Given the description of an element on the screen output the (x, y) to click on. 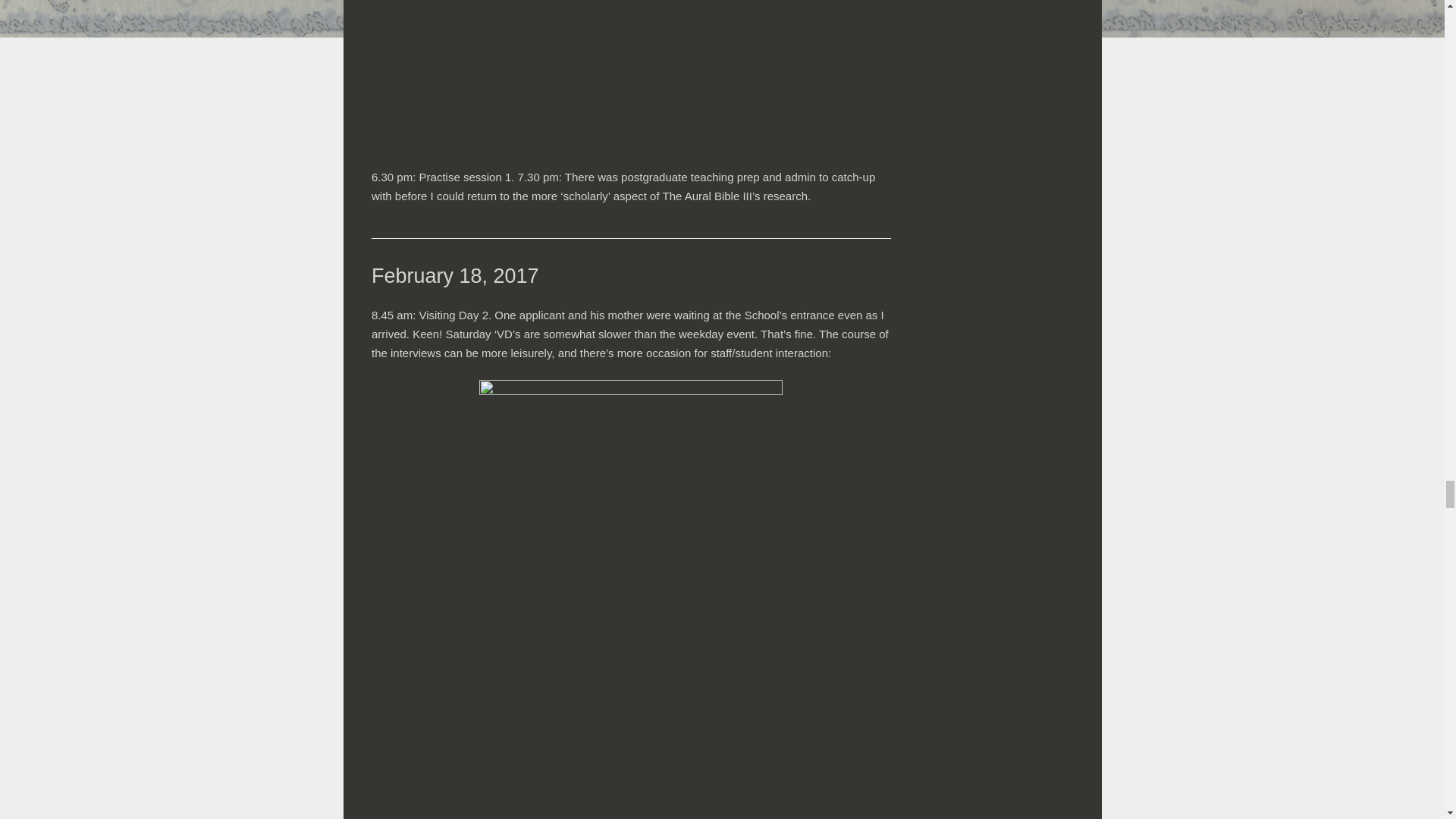
February 18, 2017 (454, 275)
